Given the description of an element on the screen output the (x, y) to click on. 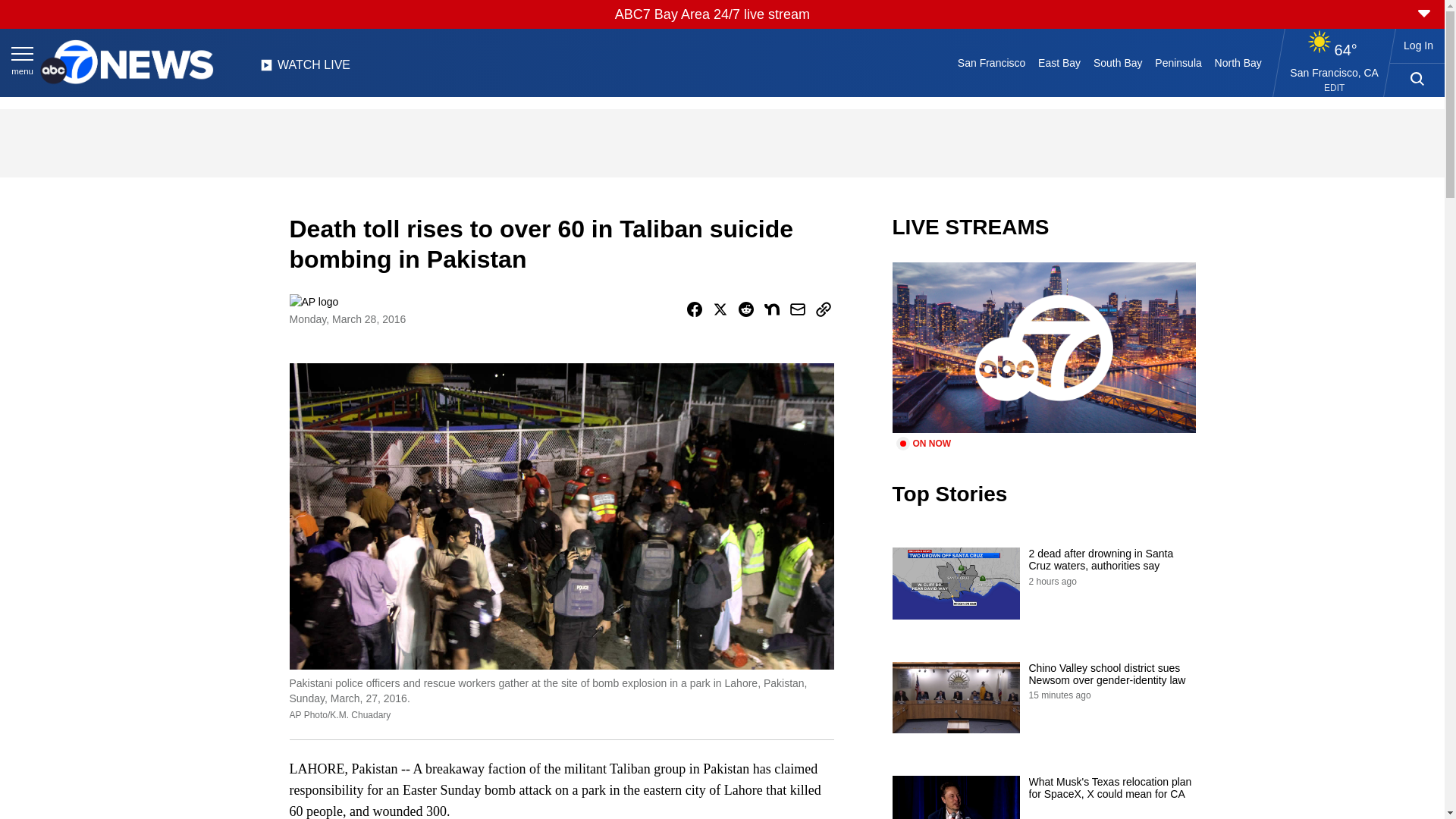
North Bay (1238, 62)
South Bay (1117, 62)
WATCH LIVE (305, 69)
EDIT (1333, 87)
San Francisco (990, 62)
Peninsula (1178, 62)
East Bay (1059, 62)
San Francisco, CA (1334, 72)
